Given the description of an element on the screen output the (x, y) to click on. 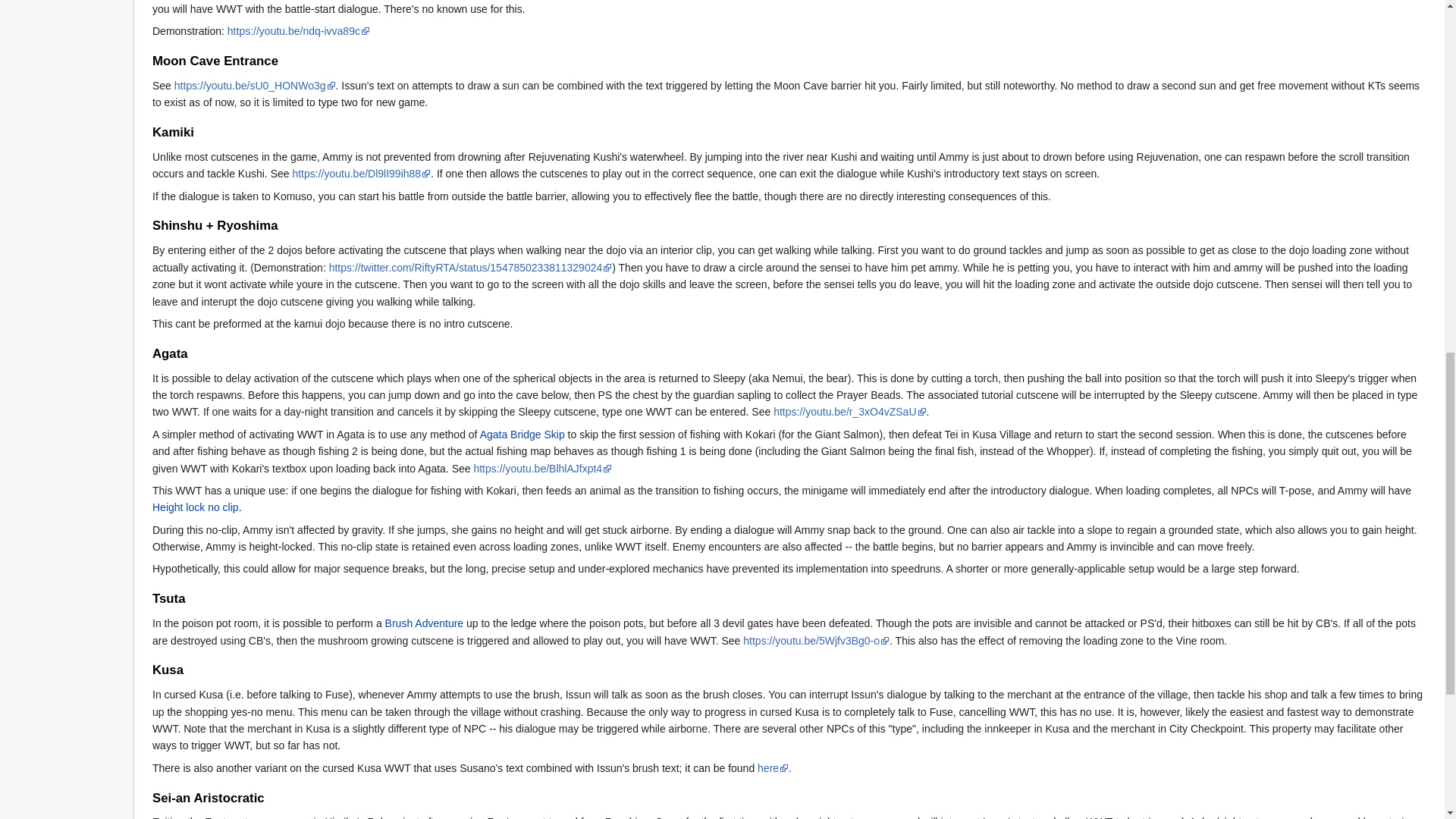
here (773, 767)
Brush Adventure (424, 623)
Height lock no clip (195, 507)
Brush Adventure (424, 623)
Height lock no clip (195, 507)
Agata Bridge Skip (522, 434)
Agata Bridge Skip (522, 434)
